Given the description of an element on the screen output the (x, y) to click on. 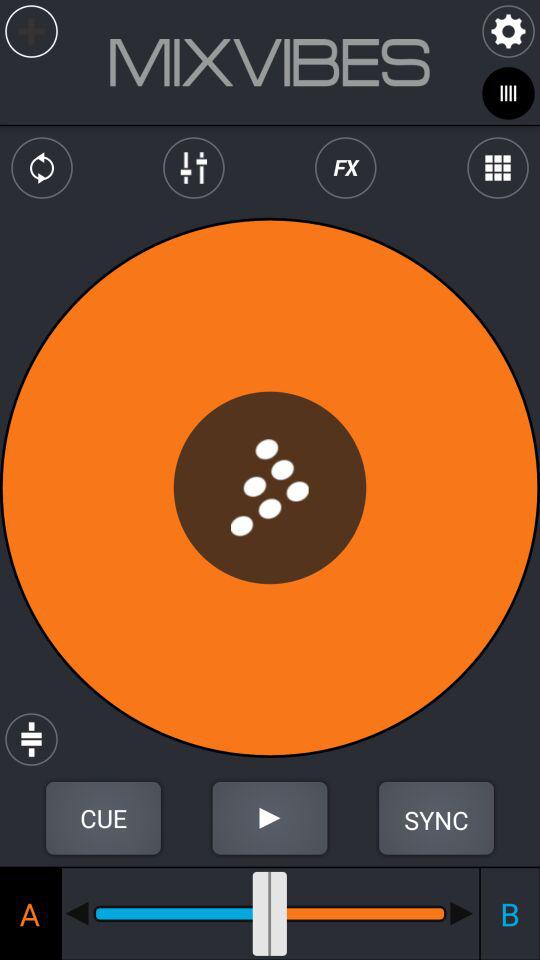
go to settings (508, 31)
